Given the description of an element on the screen output the (x, y) to click on. 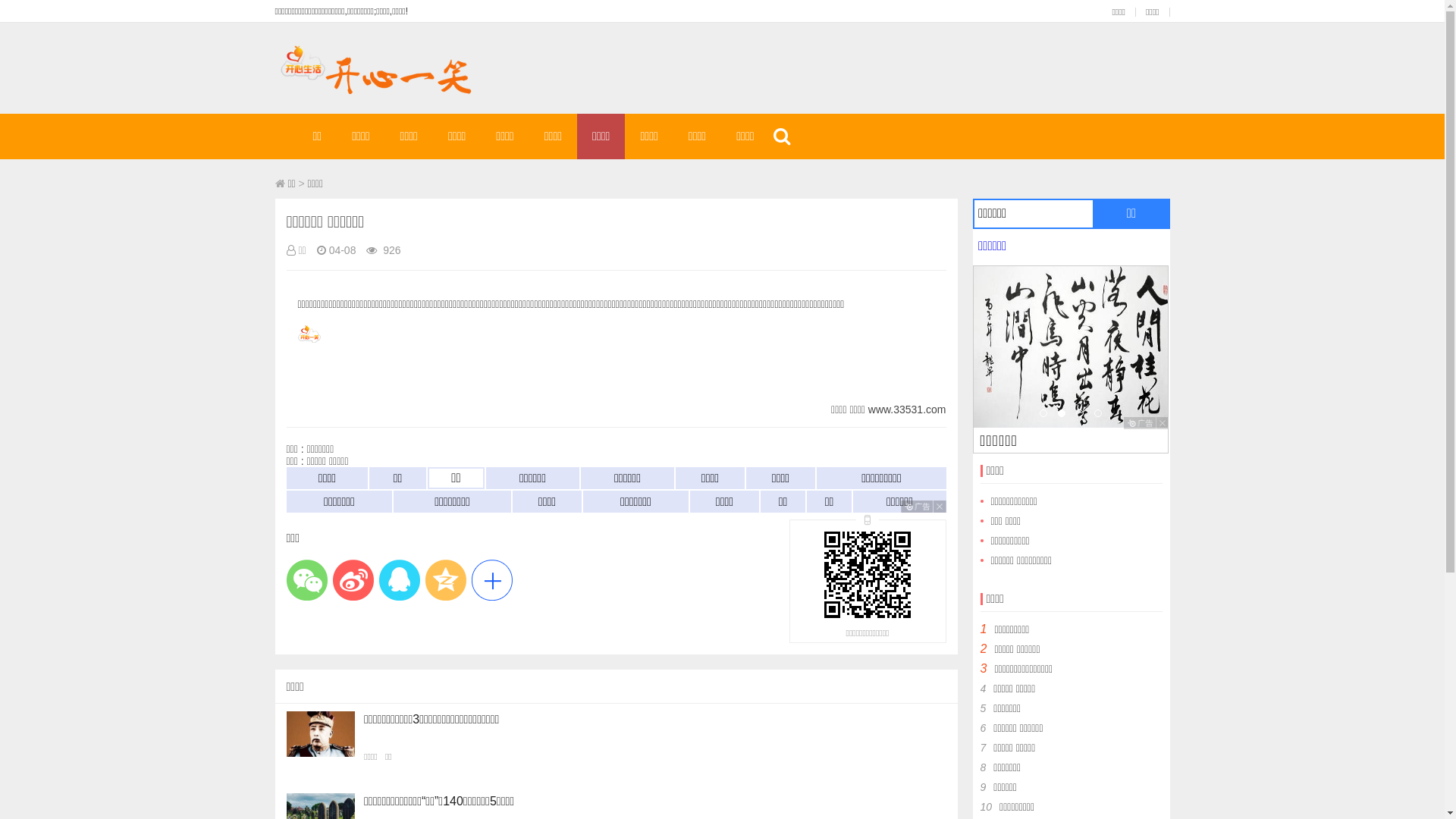
http://www.33531.com/kxzl/11274.html Element type: hover (867, 571)
